Given the description of an element on the screen output the (x, y) to click on. 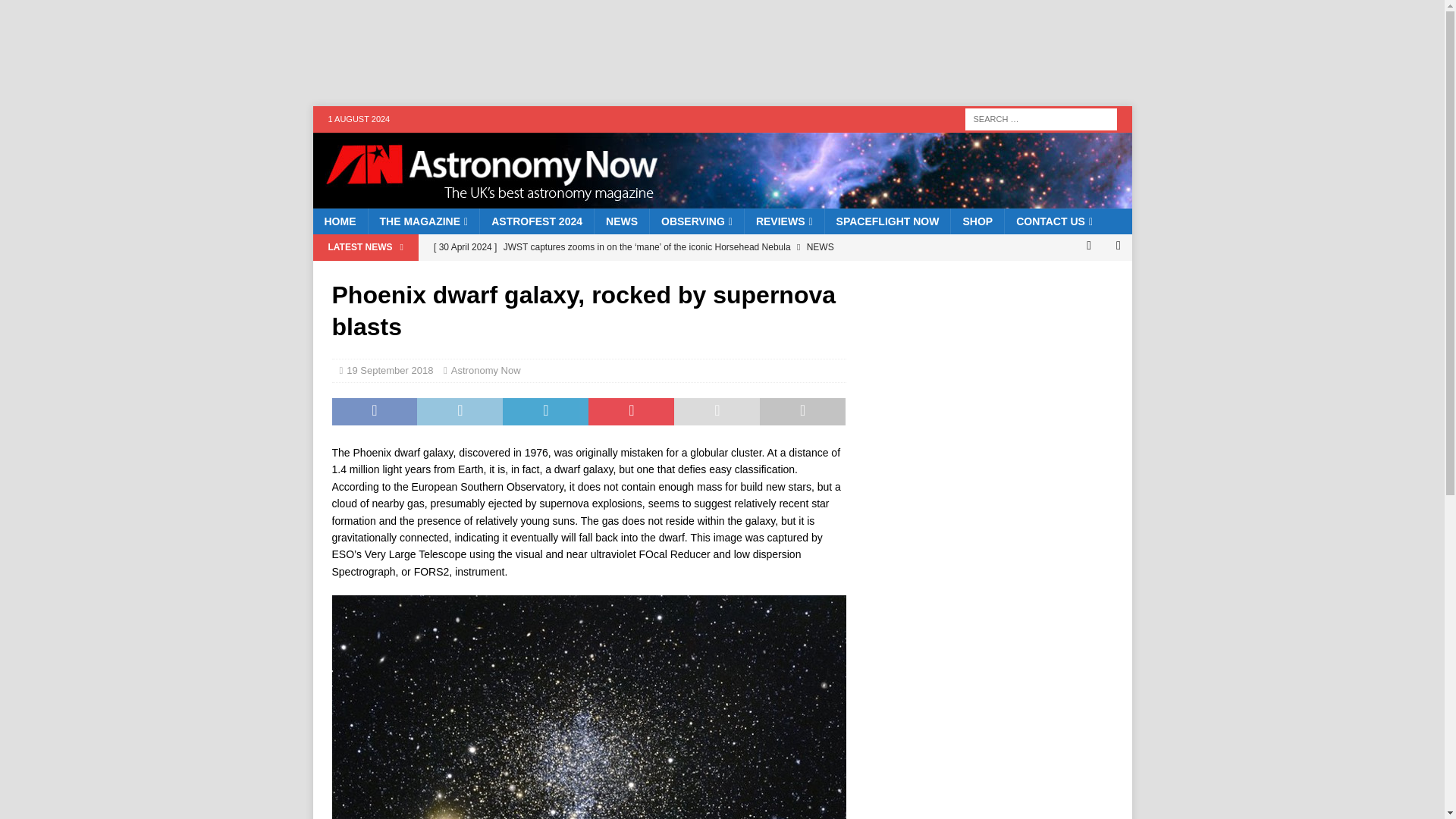
19 September 2018 (389, 369)
THE MAGAZINE (422, 221)
OBSERVING (696, 221)
SHOP (977, 221)
HOME (339, 221)
CONTACT US (1053, 221)
SPACEFLIGHT NOW (887, 221)
Astronomy Now (722, 200)
NEWS (621, 221)
REVIEWS (784, 221)
3rd party ad content (604, 52)
Astronomy Now (486, 369)
Search (56, 11)
ASTROFEST 2024 (536, 221)
